Given the description of an element on the screen output the (x, y) to click on. 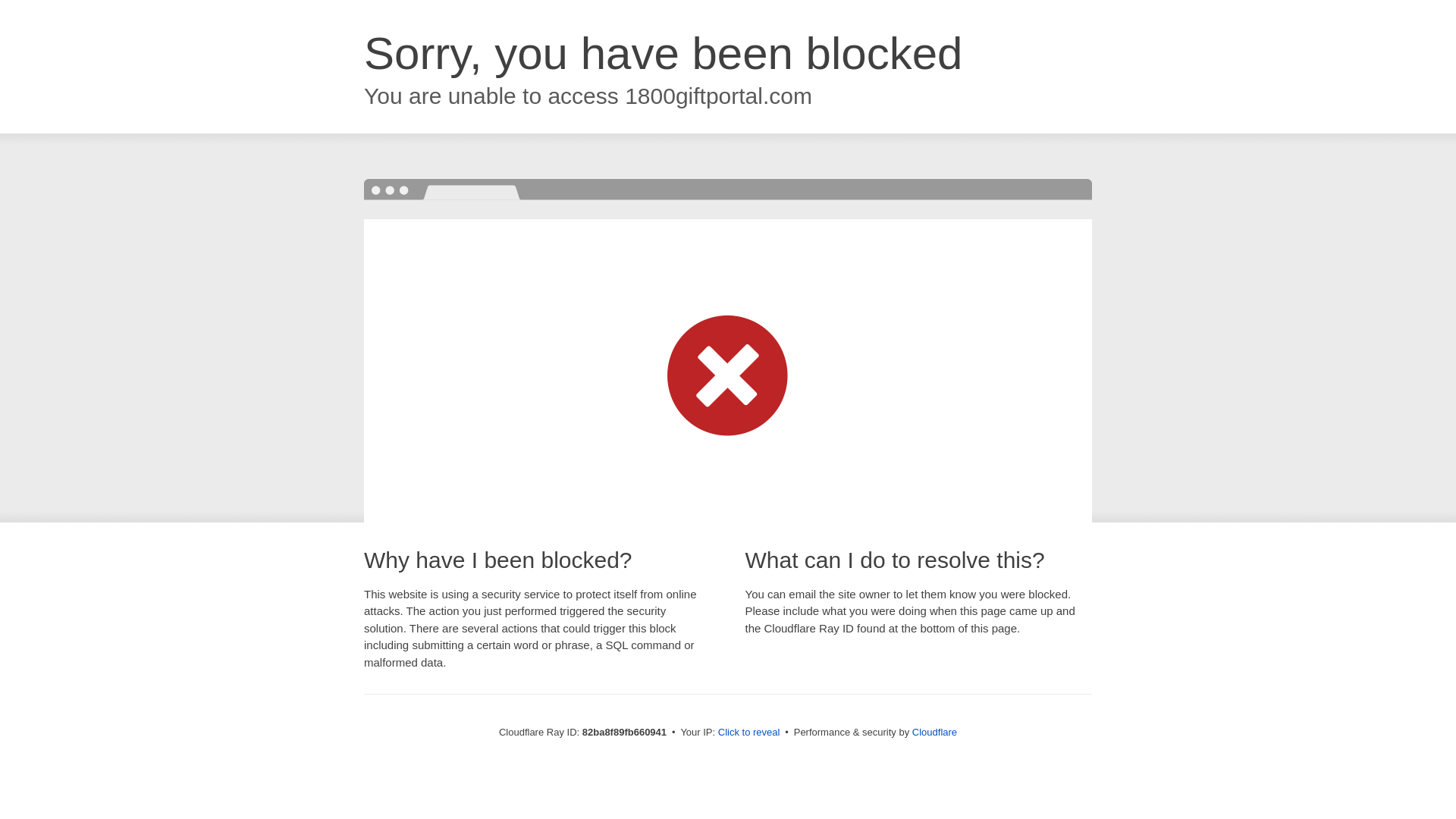
Cloudflare Element type: text (934, 731)
Click to reveal Element type: text (749, 732)
